Given the description of an element on the screen output the (x, y) to click on. 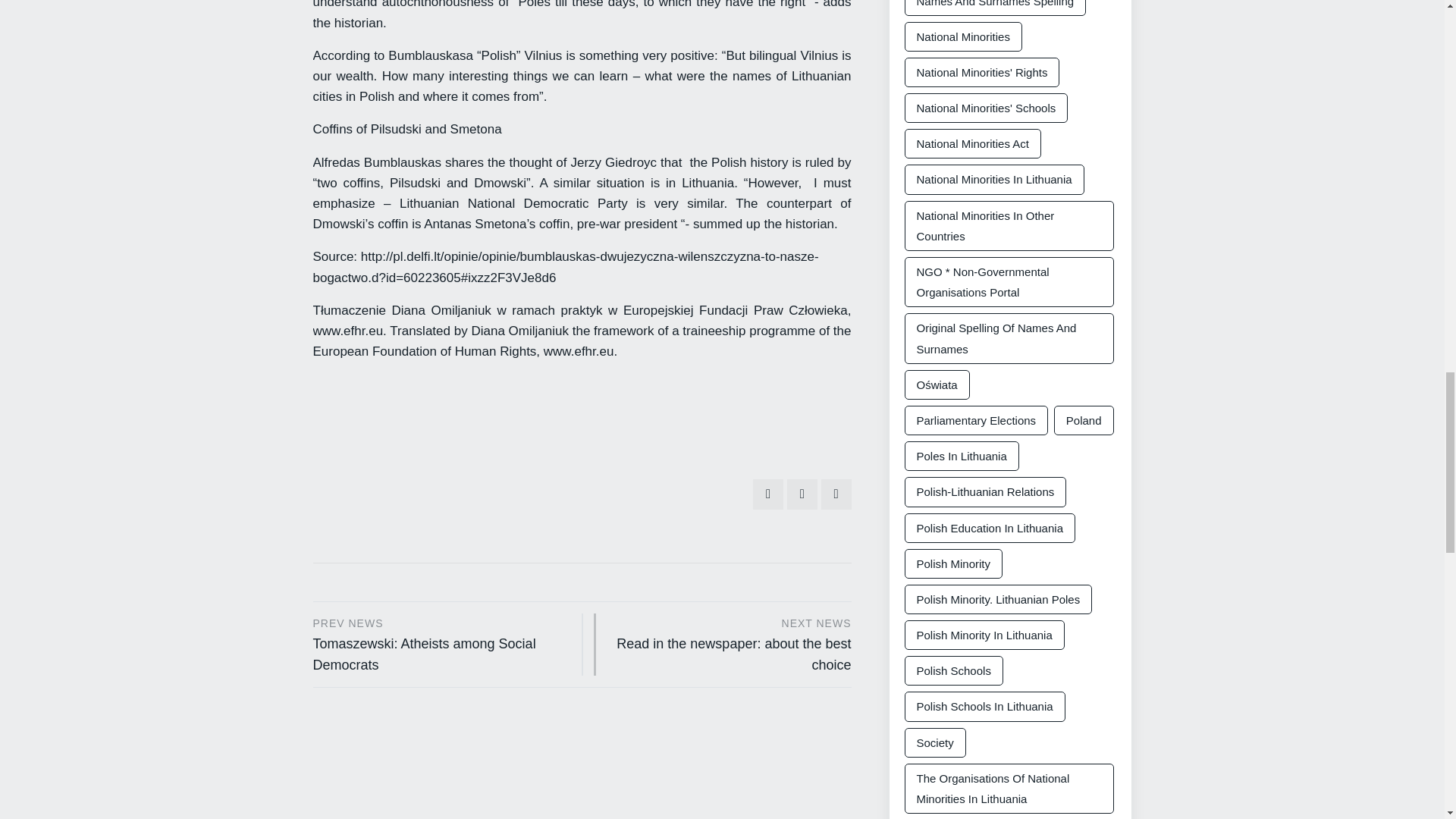
www.efhr.eu (578, 350)
www.efhr.eu (731, 642)
